Given the description of an element on the screen output the (x, y) to click on. 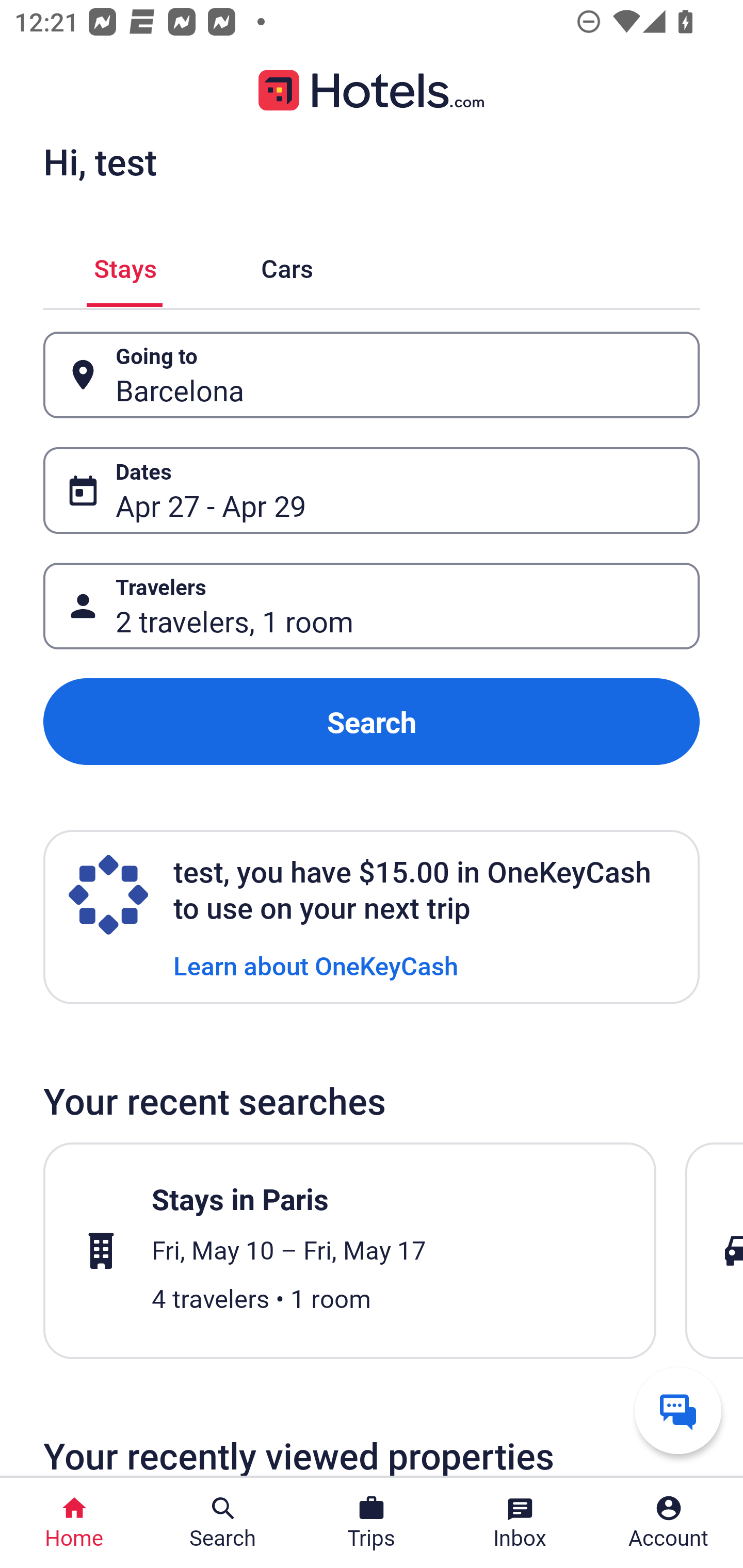
Hi, test (99, 161)
Cars (286, 265)
Going to Button Barcelona (371, 375)
Dates Button Apr 27 - Apr 29 (371, 489)
Travelers Button 2 travelers, 1 room (371, 605)
Search (371, 721)
Learn about OneKeyCash Learn about OneKeyCash Link (315, 964)
Get help from a virtual agent (677, 1410)
Search Search Button (222, 1522)
Trips Trips Button (371, 1522)
Inbox Inbox Button (519, 1522)
Account Profile. Button (668, 1522)
